Given the description of an element on the screen output the (x, y) to click on. 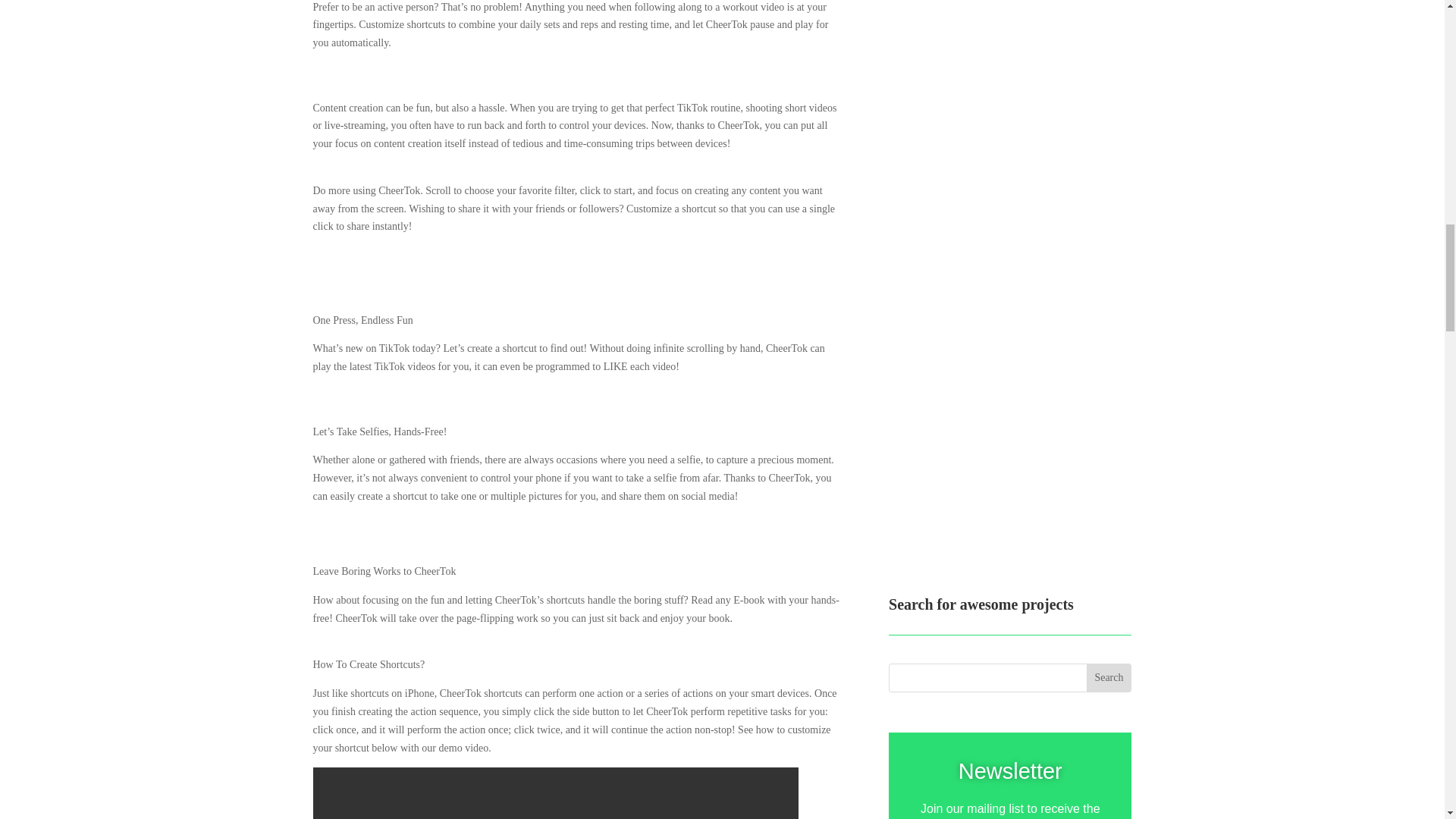
Search (1108, 411)
SUBSCRIBE! (1009, 679)
Search (1108, 411)
Search (1108, 411)
